Given the description of an element on the screen output the (x, y) to click on. 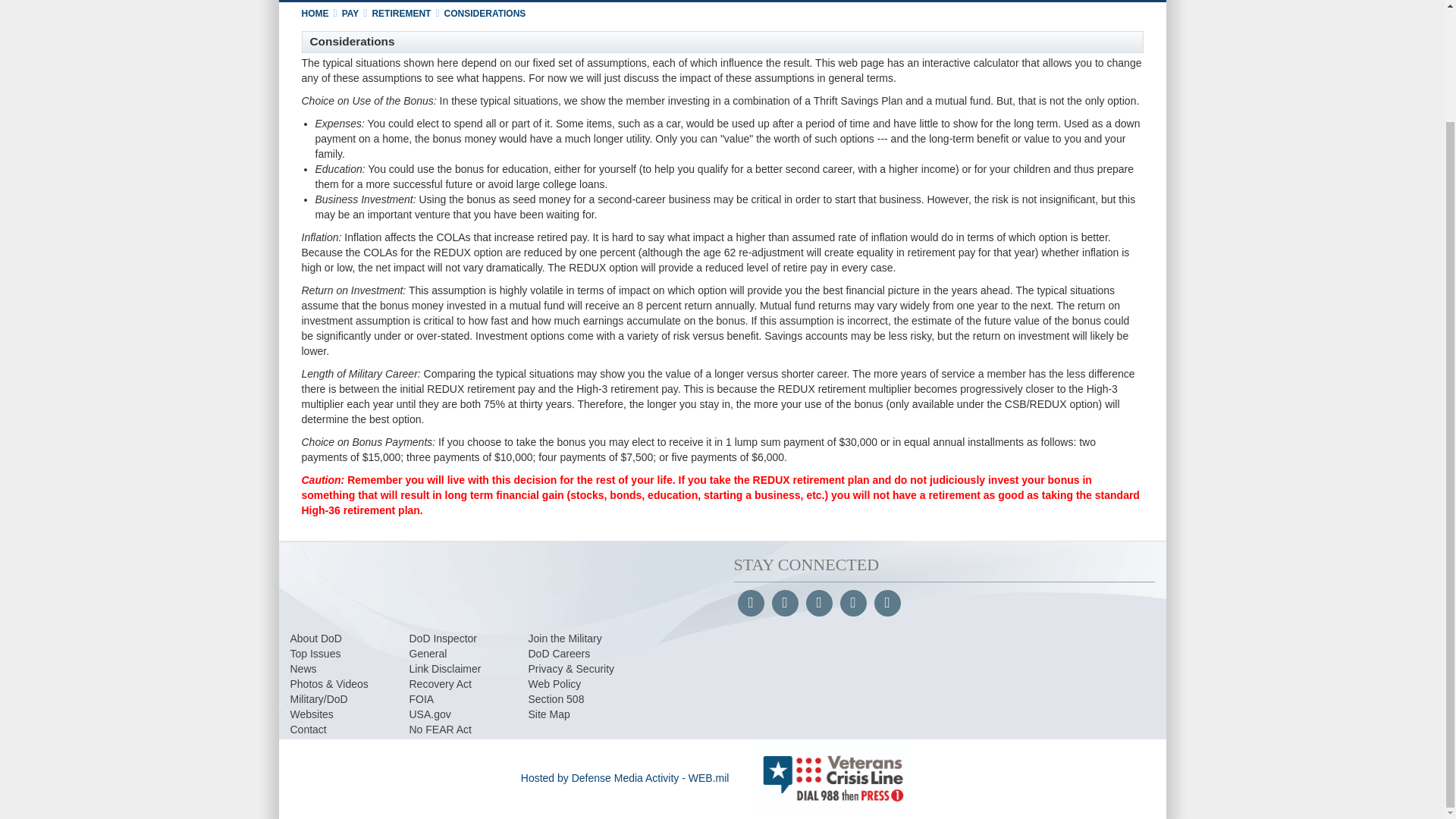
HOME (317, 0)
Follow Us on Facebook (749, 603)
BENEFITS (714, 0)
CALCULATORS (628, 0)
Flickr (853, 603)
PAY (555, 0)
YouTube (818, 603)
BLENDED RETIREMENT (468, 0)
ABOUT (373, 0)
Blog (886, 603)
